Given the description of an element on the screen output the (x, y) to click on. 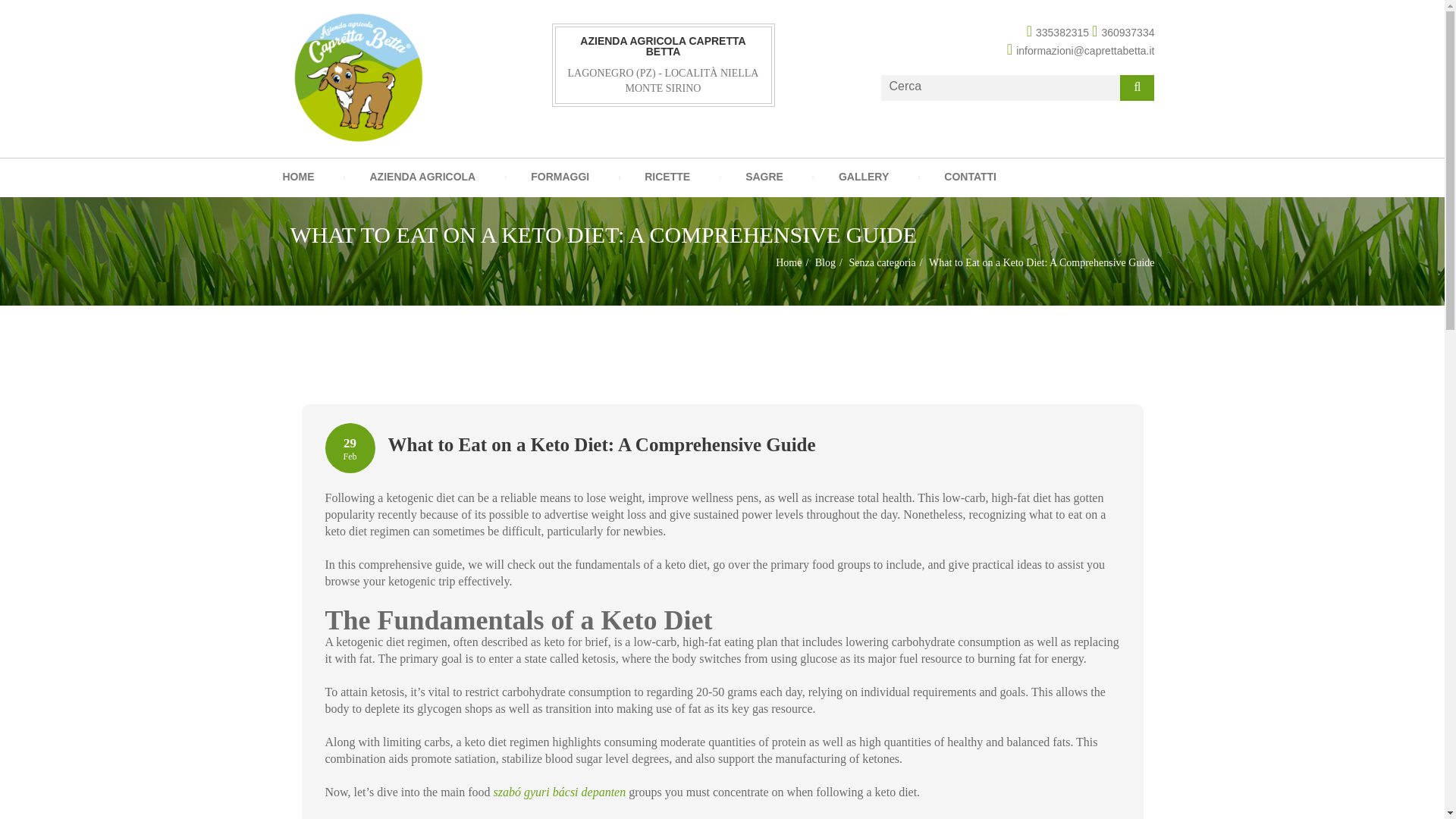
AZIENDA AGRICOLA (422, 177)
335382315 (1057, 32)
SAGRE (764, 177)
360937334 (1123, 32)
Blog (825, 262)
FORMAGGI (559, 177)
CONTATTI (970, 177)
Home (789, 262)
GALLERY (863, 177)
HOME (298, 177)
Senza categoria (881, 262)
RICETTE (667, 177)
